Given the description of an element on the screen output the (x, y) to click on. 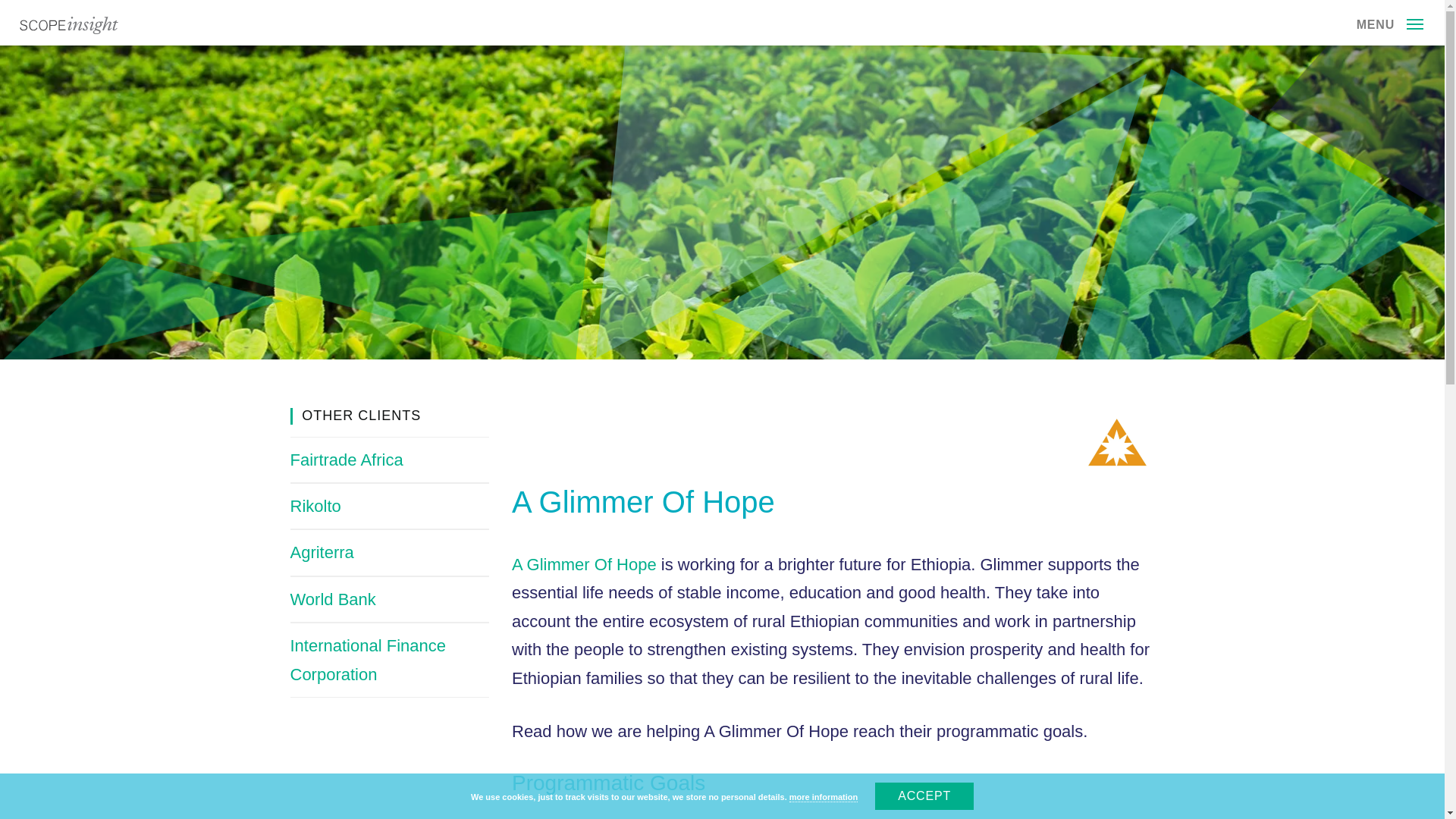
Fairtrade Africa (346, 459)
International Finance Corporation (367, 659)
Rikolto (314, 505)
Agriterra (321, 551)
World Bank (332, 599)
A Glimmer Of Hope (584, 564)
